Given the description of an element on the screen output the (x, y) to click on. 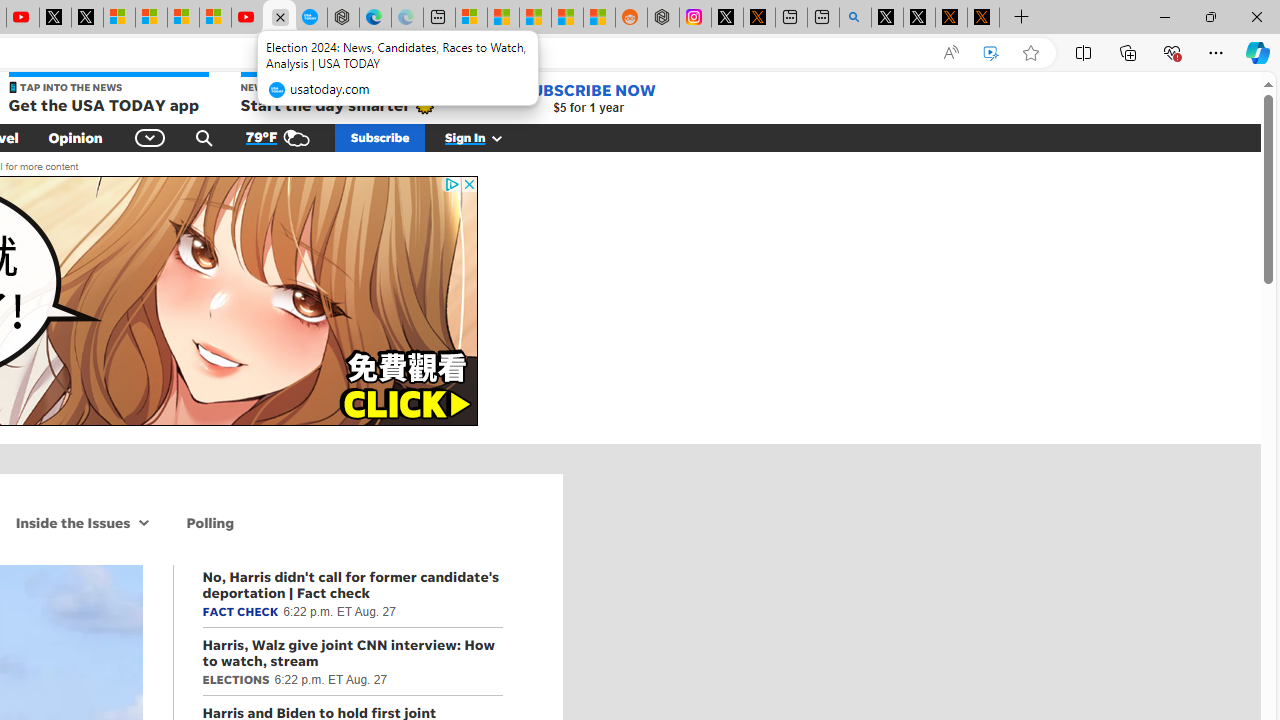
Class: gnt_n_us_a_svg (493, 137)
Shanghai, China weather forecast | Microsoft Weather (502, 17)
Shanghai, China hourly forecast | Microsoft Weather (535, 17)
Class: gnt_n_se_a_svg (204, 137)
github - Search (855, 17)
X Privacy Policy (983, 17)
Subscribe (380, 137)
